Given the description of an element on the screen output the (x, y) to click on. 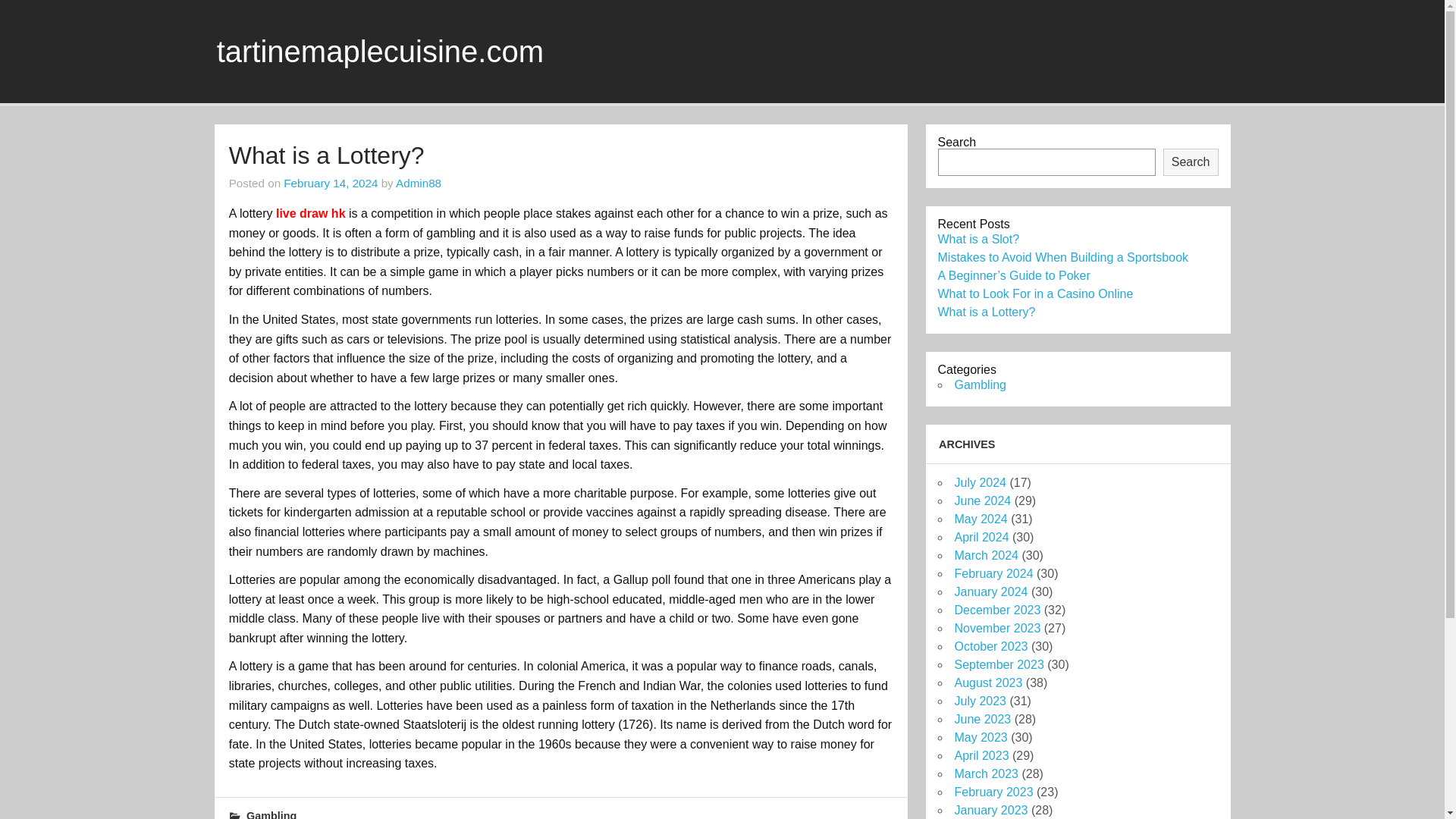
View all posts by Admin88 (418, 182)
December 2023 (997, 609)
June 2023 (981, 718)
What to Look For in a Casino Online (1034, 293)
June 2024 (981, 500)
September 2023 (998, 664)
October 2023 (990, 645)
January 2023 (990, 809)
March 2023 (985, 773)
tartinemaplecuisine.com (379, 51)
April 2024 (981, 536)
February 2023 (992, 791)
November 2023 (997, 627)
4:53 pm (330, 182)
February 2024 (992, 573)
